Given the description of an element on the screen output the (x, y) to click on. 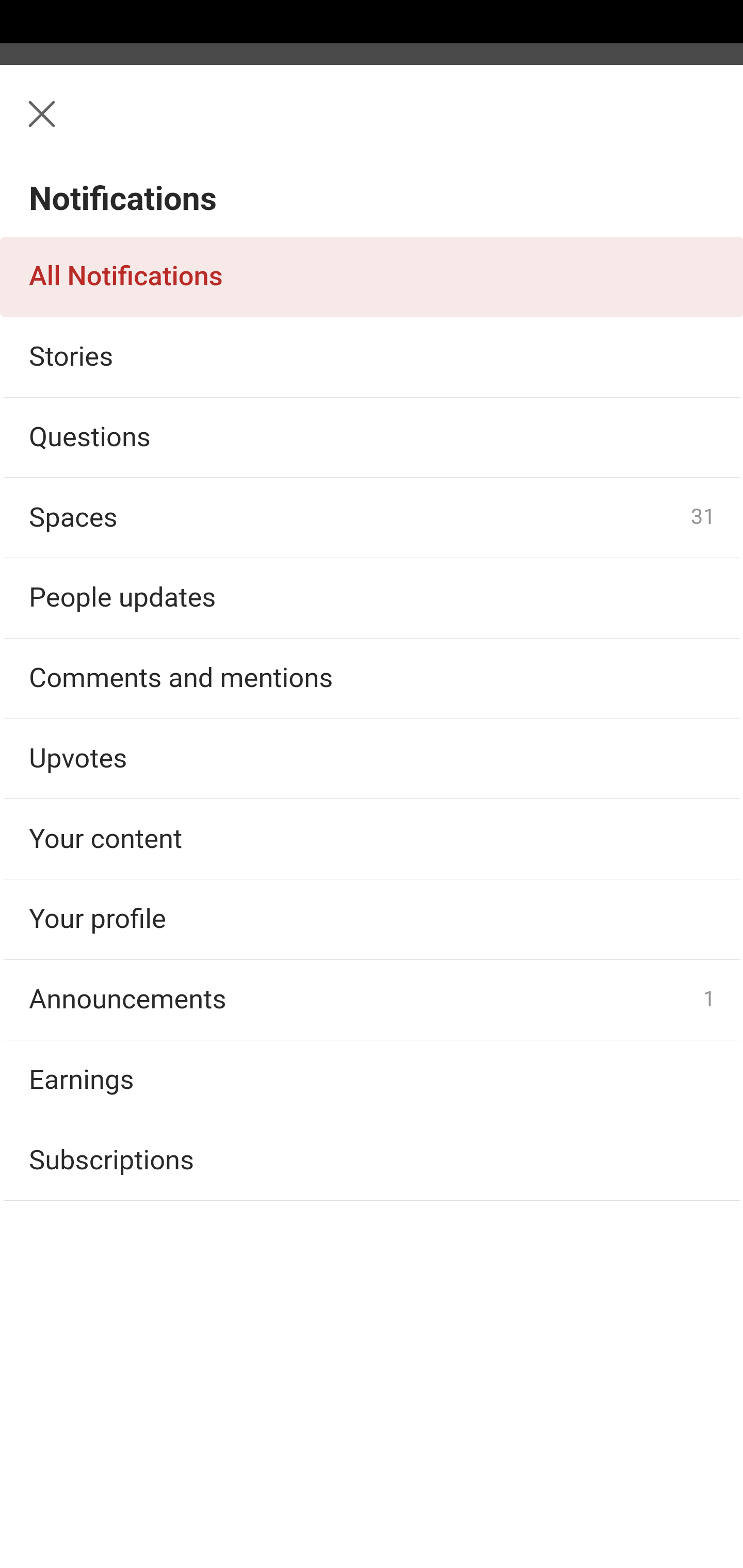
Me Notifications Search (371, 125)
Mark All As Read (135, 213)
